Given the description of an element on the screen output the (x, y) to click on. 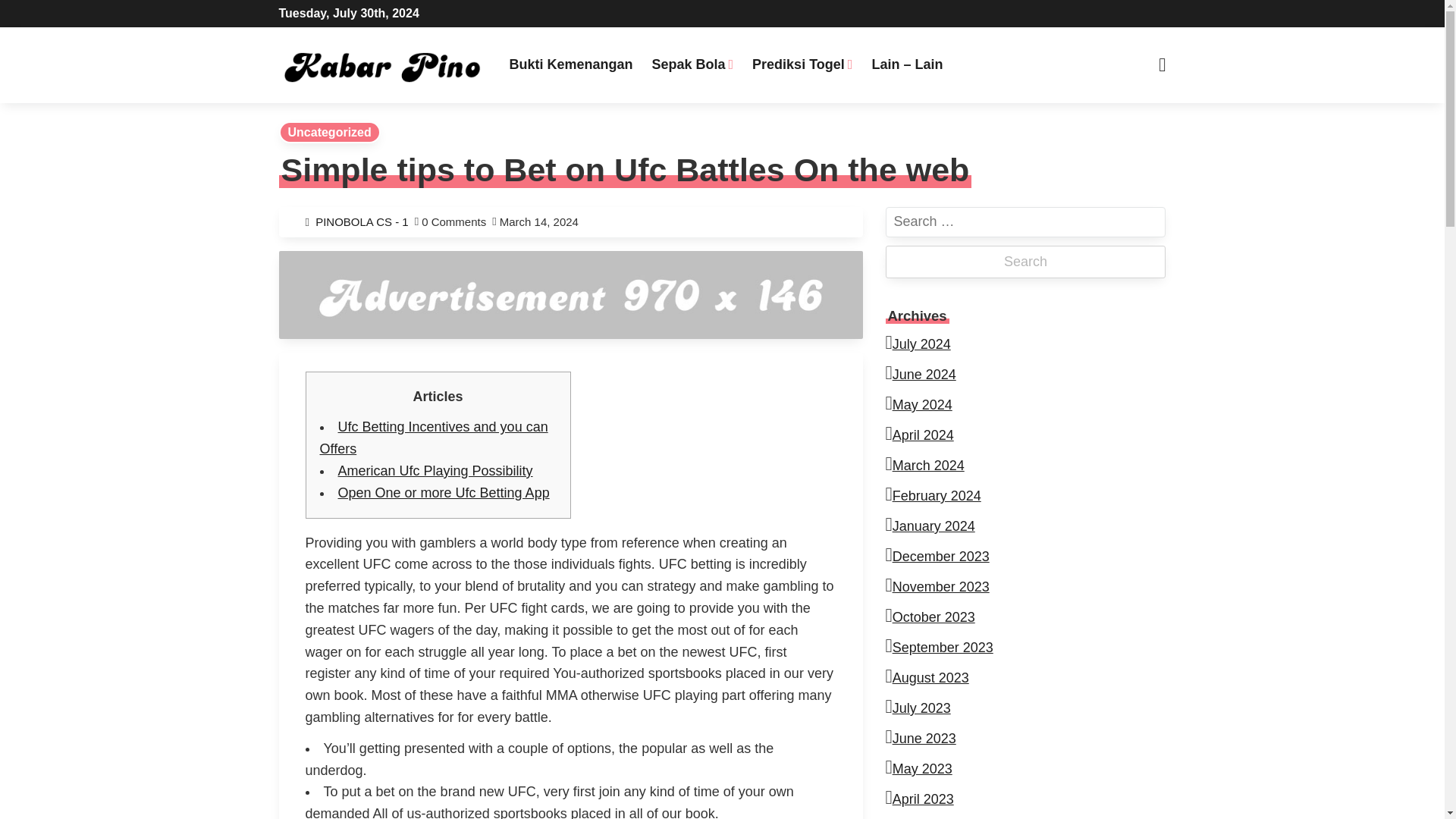
Sepak Bola (692, 64)
Prediksi Togel (802, 64)
Ufc Betting Incentives and you can Offers (434, 437)
American Ufc Playing Possibility (434, 470)
Open One or more Ufc Betting App (443, 492)
Search (1025, 261)
View all posts in Uncategorized (329, 132)
Uncategorized (329, 132)
Bukti Kemenangan (570, 64)
Search (1025, 261)
PINOBOLA CS - 1 (364, 221)
Search (455, 16)
